Given the description of an element on the screen output the (x, y) to click on. 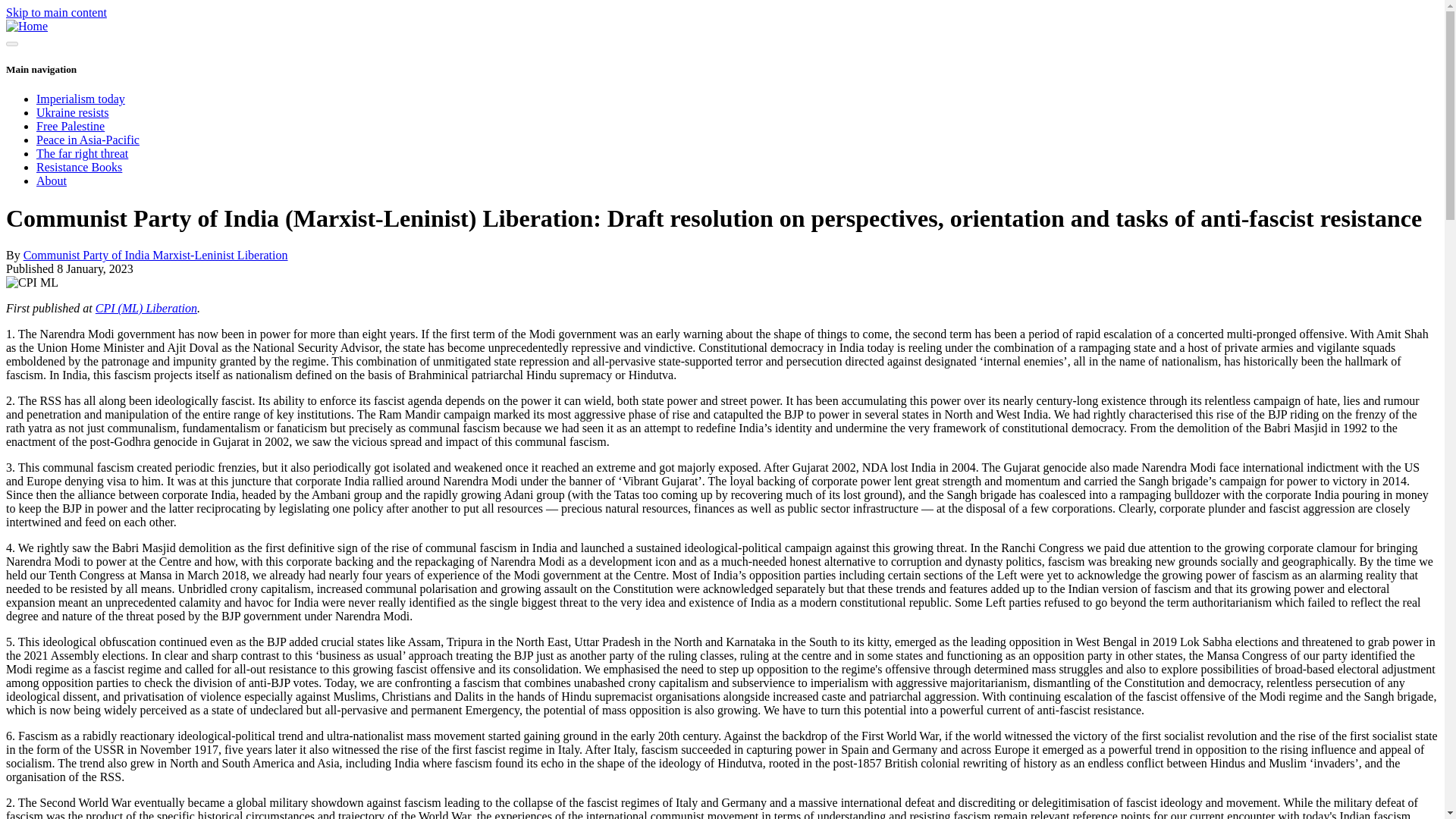
Peace in Asia-Pacific (87, 139)
The far right threat (82, 153)
Ukraine resists (72, 112)
Free Palestine (70, 125)
Resistance Books (79, 166)
Resistance Books (79, 166)
About (51, 180)
Home (26, 25)
Skip to main content (55, 11)
Communist Party of India Marxist-Leninist Liberation (155, 254)
Imperialism today (80, 98)
About (51, 180)
Understanding Putin's war on Ukraine (72, 112)
